Given the description of an element on the screen output the (x, y) to click on. 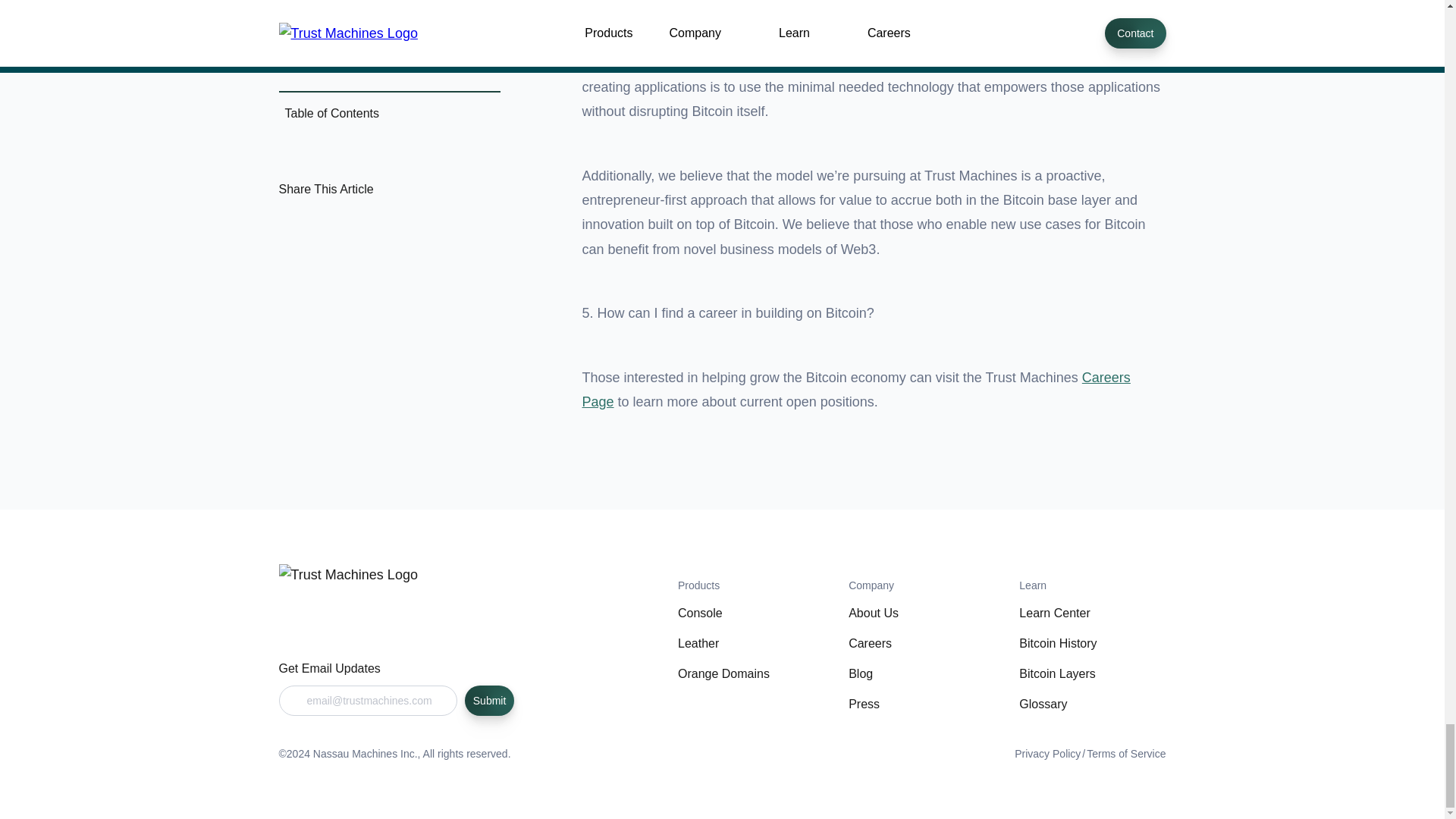
Learn Center (1054, 612)
Orange Domains (724, 672)
Careers (869, 642)
Trust Machines Logo (358, 578)
Blog (860, 672)
Submit (488, 700)
Glossary (1043, 703)
Bitcoin Layers (1057, 672)
About Us (873, 612)
Careers Page (856, 388)
Leather (698, 642)
Bitcoin History (1057, 642)
Console (700, 612)
Press (863, 703)
